Given the description of an element on the screen output the (x, y) to click on. 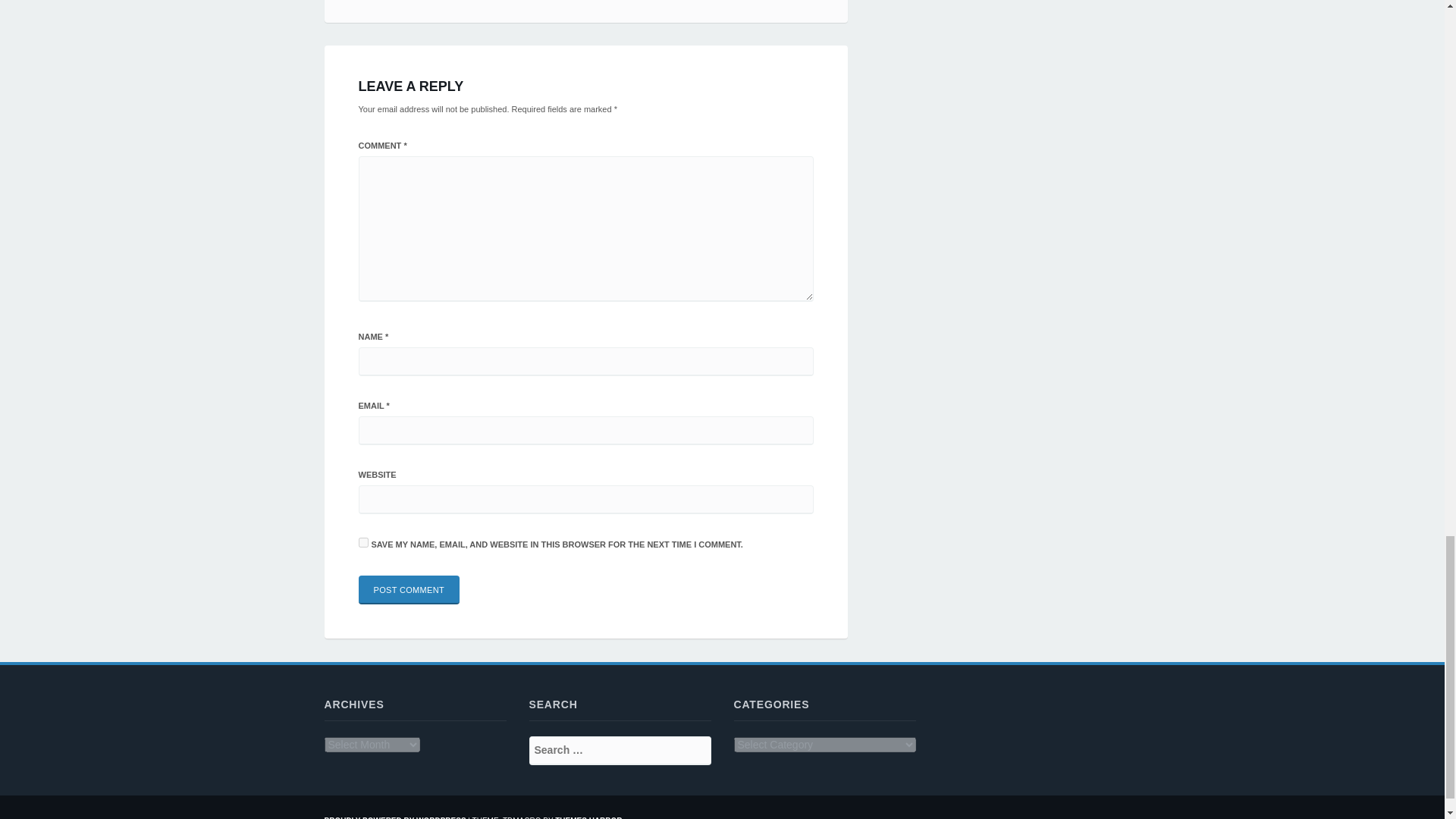
Post Comment (409, 589)
THEMES HARBOR (587, 817)
PROUDLY POWERED BY WORDPRESS (394, 817)
yes (363, 542)
Post Comment (409, 589)
